Given the description of an element on the screen output the (x, y) to click on. 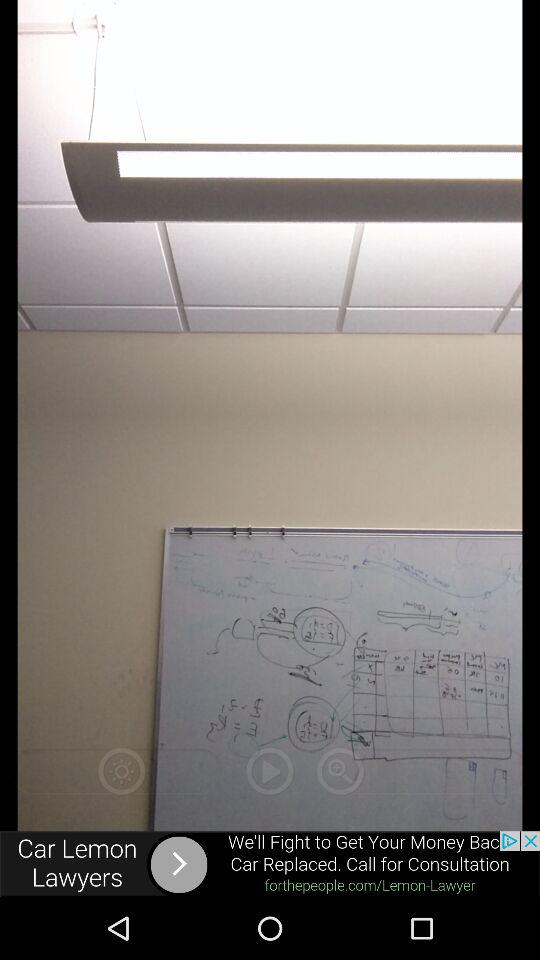
play option (269, 771)
